Given the description of an element on the screen output the (x, y) to click on. 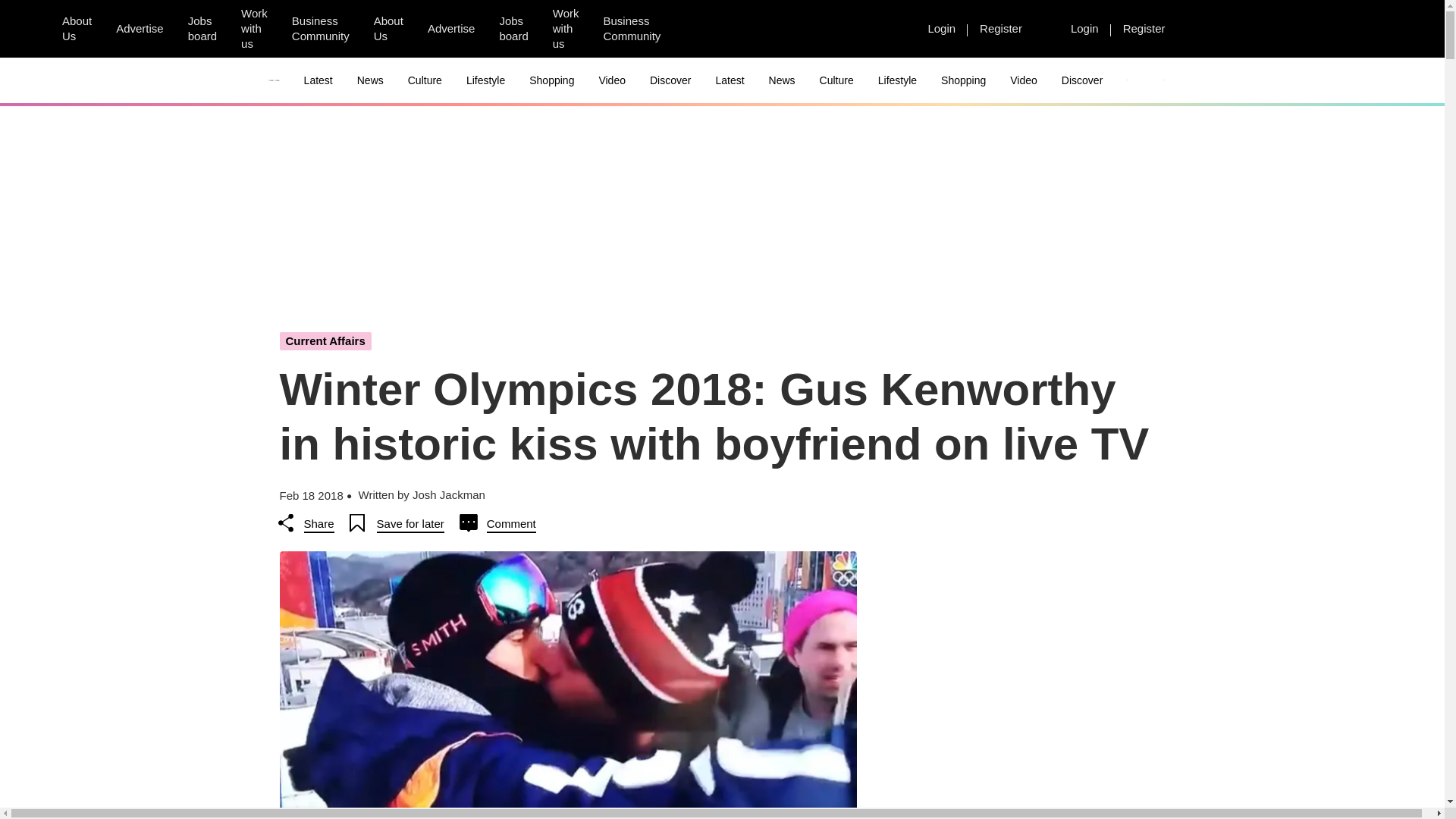
Follow PinkNews on LinkedIn (775, 28)
Login (941, 28)
Login (1084, 28)
About Us (76, 28)
Advertise (139, 28)
Work with us (253, 28)
Jobs board (202, 28)
Register (1143, 28)
News (370, 79)
About Us (387, 28)
Jobs board (513, 28)
Business Community (631, 28)
Work with us (565, 28)
Follow PinkNews on LinkedIn (885, 28)
Latest (318, 79)
